Given the description of an element on the screen output the (x, y) to click on. 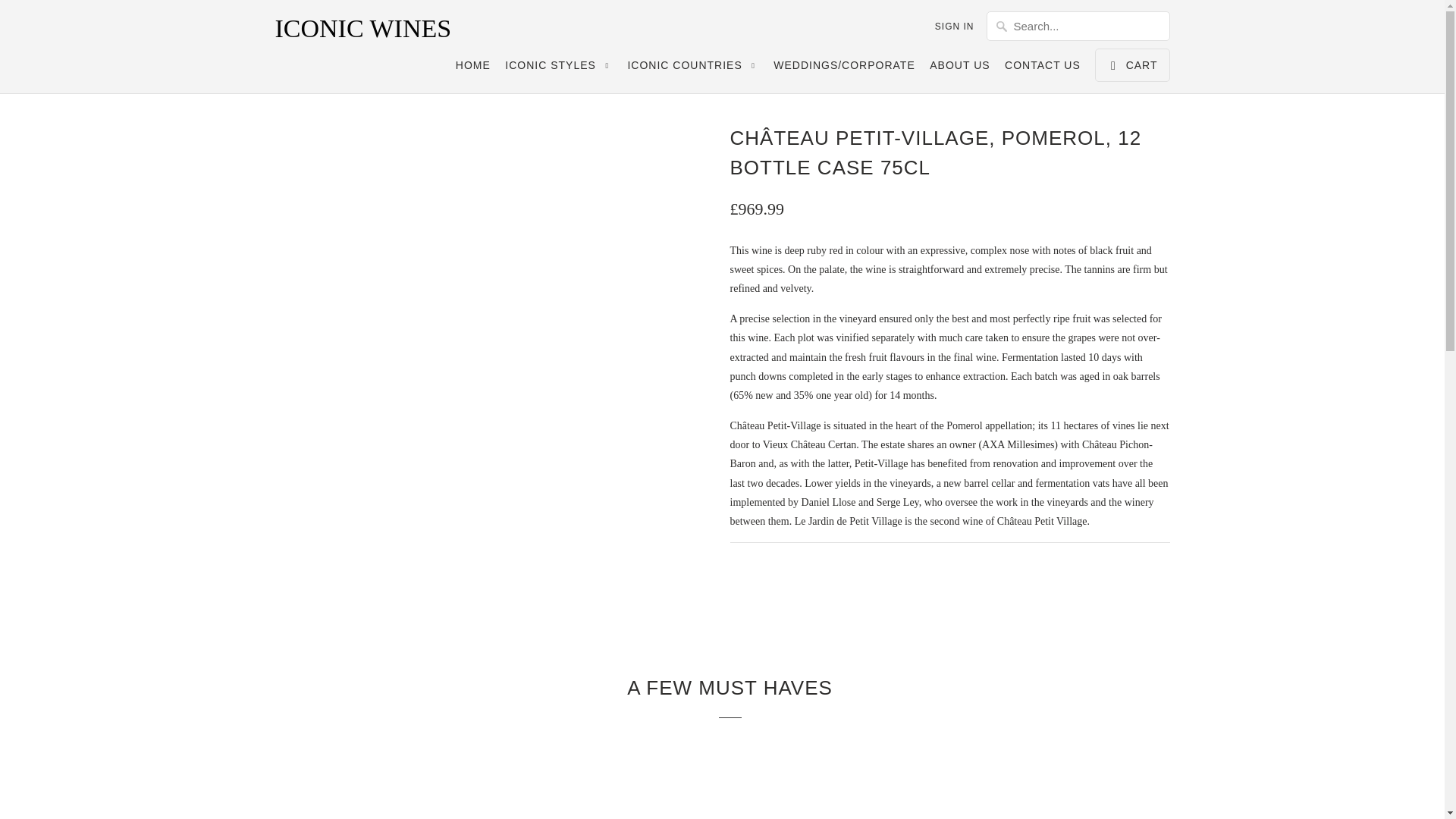
SIGN IN (954, 26)
Iconic Wines (380, 28)
CART (1131, 64)
ABOUT US (960, 68)
HOME (472, 68)
CONTACT US (1042, 68)
ICONIC COUNTRIES (692, 68)
ICONIC WINES (380, 28)
ICONIC STYLES (558, 68)
Cart (1131, 64)
